Given the description of an element on the screen output the (x, y) to click on. 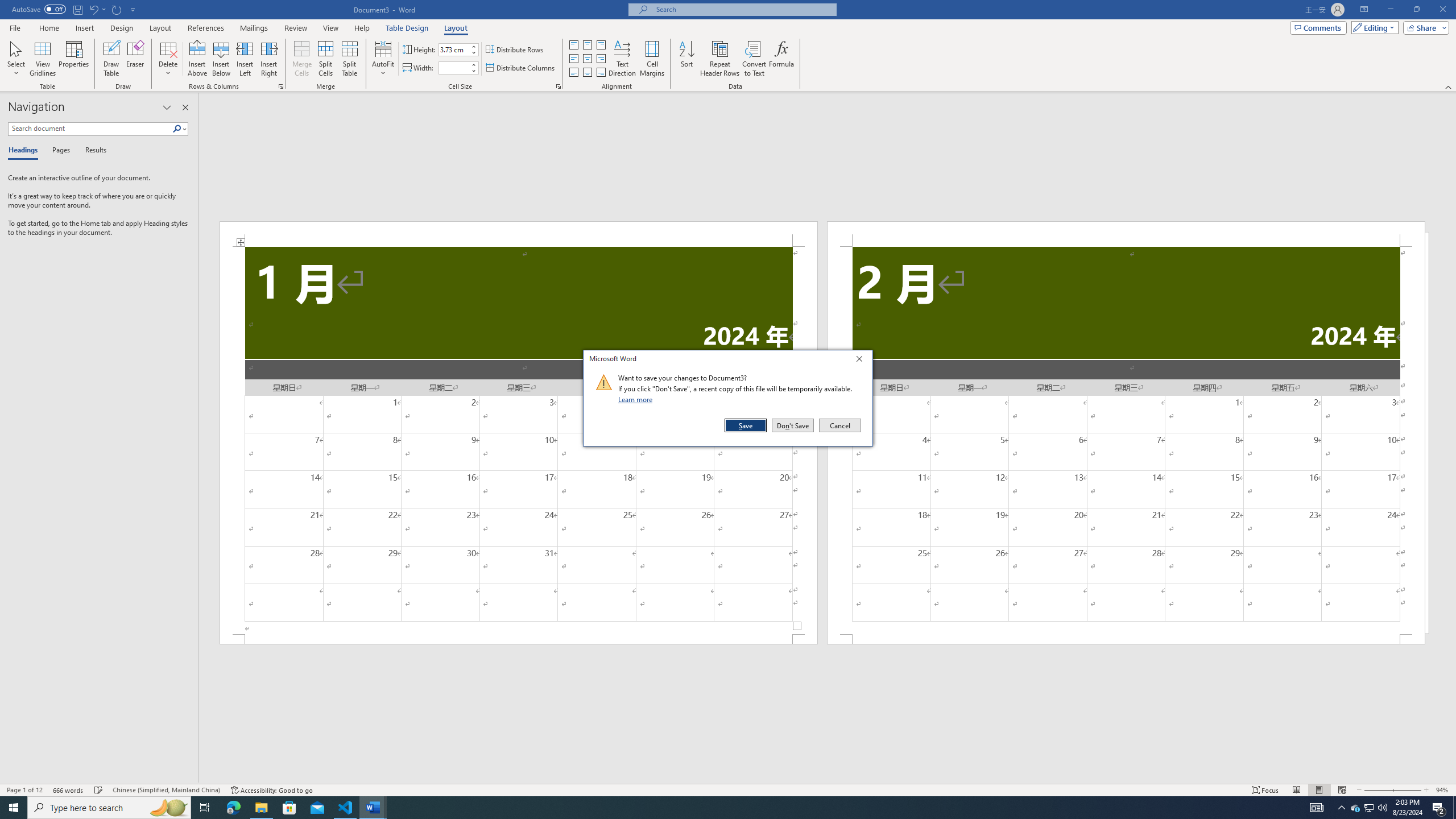
Footer -Section 2- (1126, 638)
Align Bottom Justified (573, 72)
Visual Studio Code - 1 running window (345, 807)
AutoFit (383, 58)
Cancel (839, 425)
Draw Table (111, 58)
Table Row Height (453, 49)
Header -Section 2- (1126, 233)
AutomationID: 4105 (1316, 807)
